Given the description of an element on the screen output the (x, y) to click on. 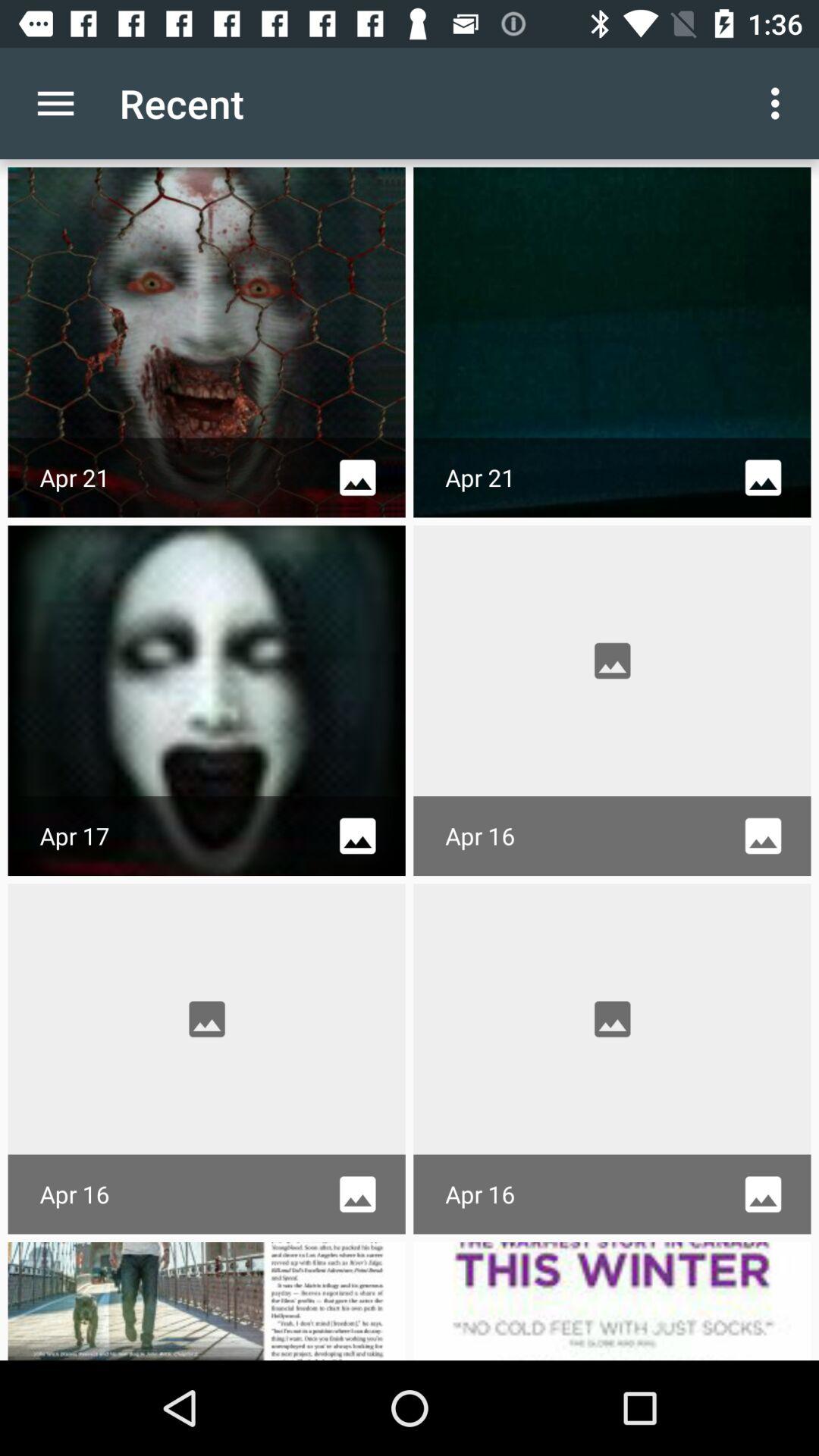
turn off the icon next to the recent (55, 103)
